Given the description of an element on the screen output the (x, y) to click on. 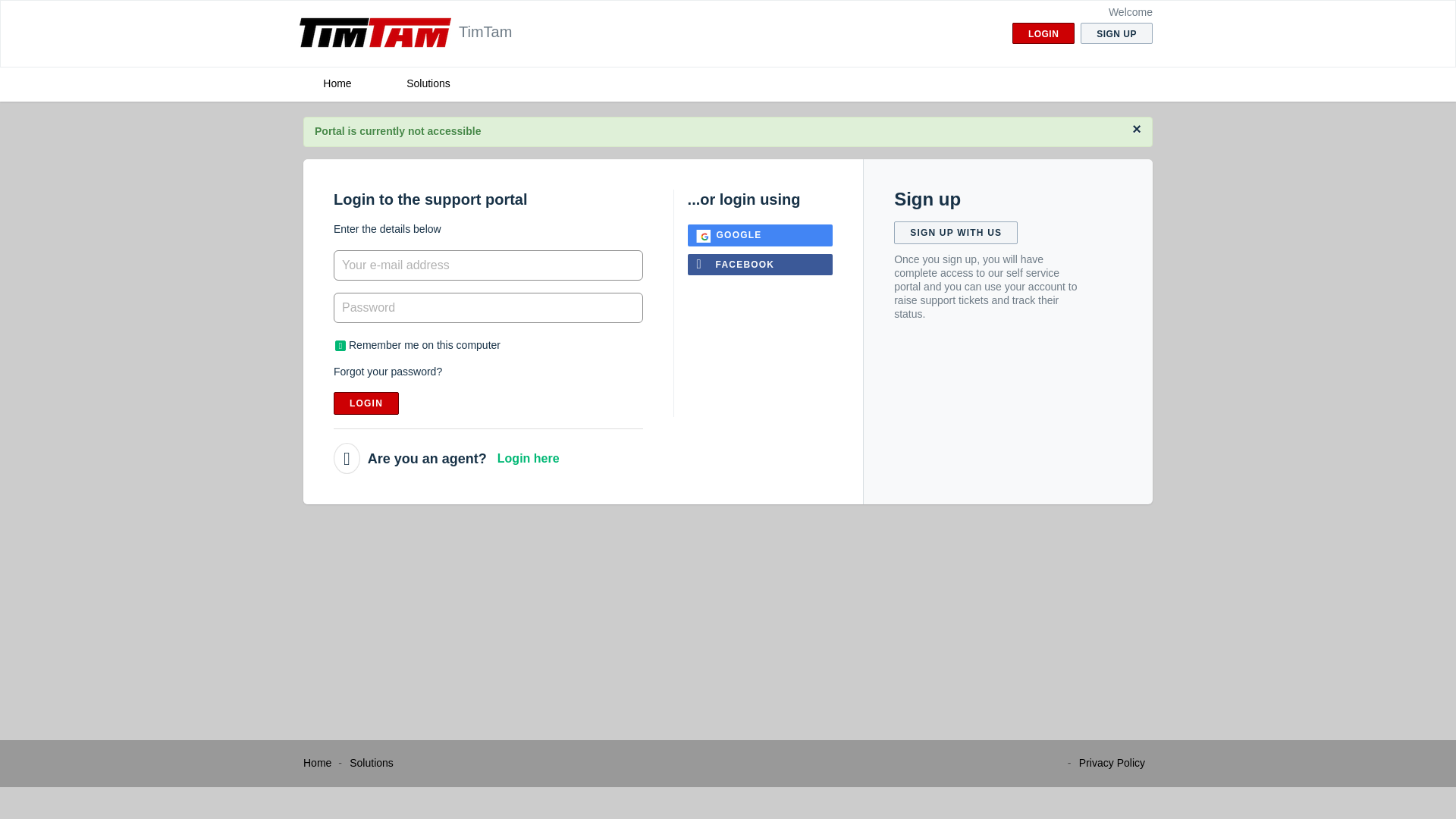
Home (316, 762)
Home (336, 83)
SIGN UP WITH US (955, 232)
LOGIN (365, 403)
SIGN UP (1116, 33)
GOOGLE (759, 235)
1 (339, 346)
Forgot your password? (387, 371)
Login here (528, 458)
Solutions (371, 762)
Solutions (428, 83)
FACEBOOK (759, 264)
Privacy Policy (1111, 763)
LOGIN (1043, 33)
